Given the description of an element on the screen output the (x, y) to click on. 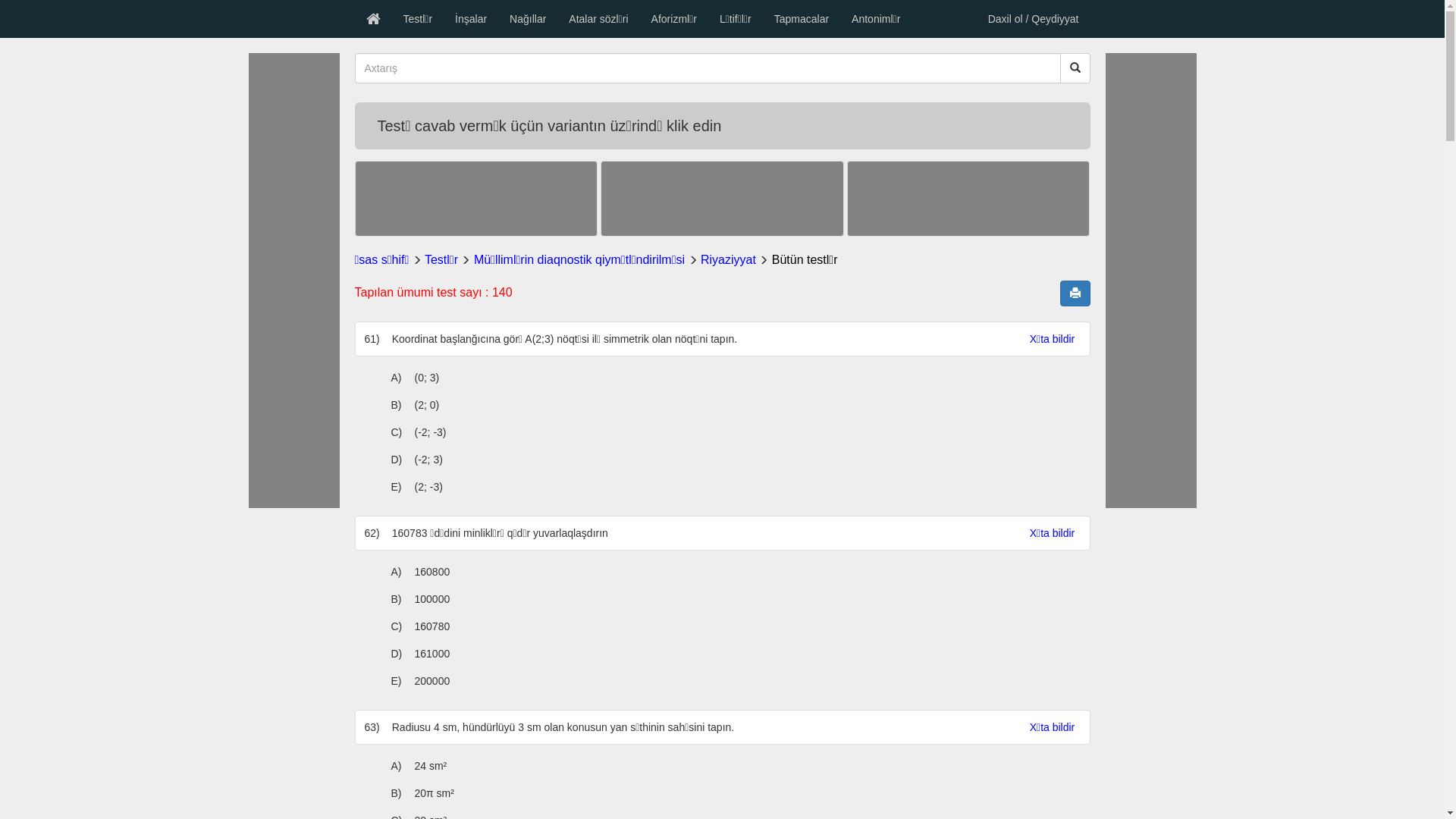
Tapmacalar Element type: text (801, 18)
Riyaziyyat Element type: text (728, 259)
Daxil ol / Qeydiyyat Element type: text (1033, 18)
